Given the description of an element on the screen output the (x, y) to click on. 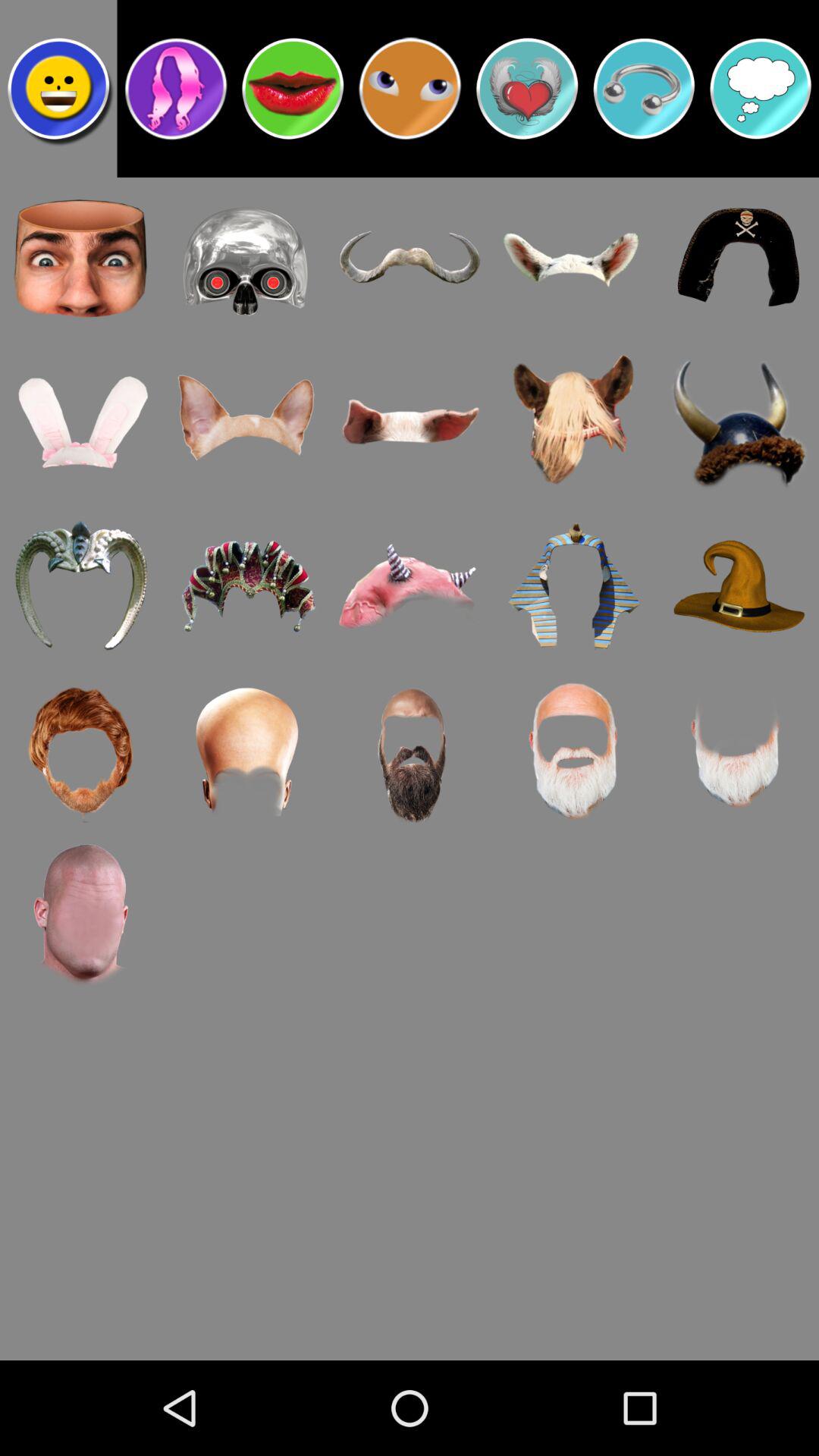
select mouth shape (292, 88)
